Given the description of an element on the screen output the (x, y) to click on. 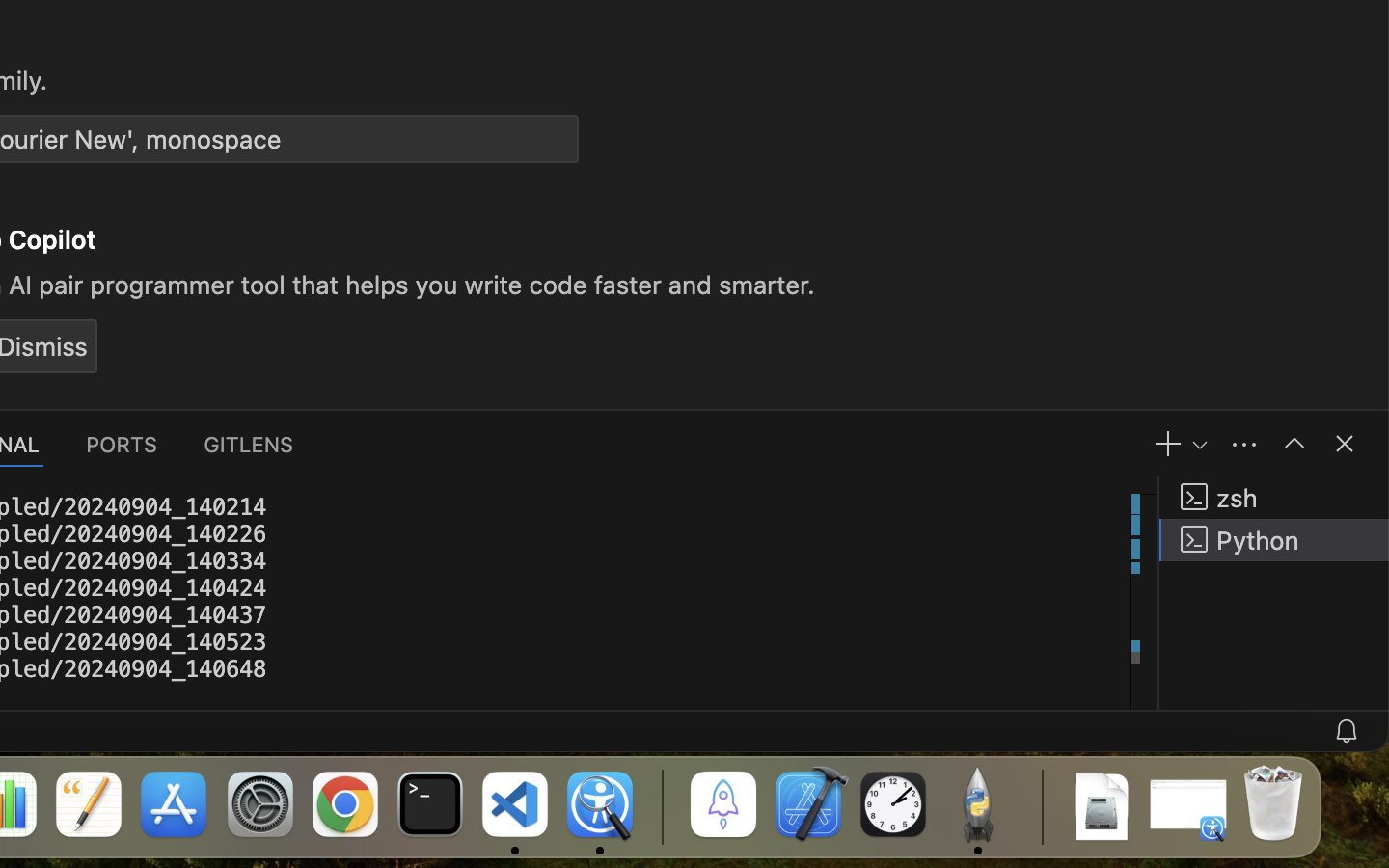
Python  Element type: AXGroup (1274, 539)
zsh  Element type: AXGroup (1274, 497)
0 GITLENS Element type: AXRadioButton (249, 443)
 Element type: AXButton (1344, 443)
0.4285714328289032 Element type: AXDockItem (660, 805)
